Given the description of an element on the screen output the (x, y) to click on. 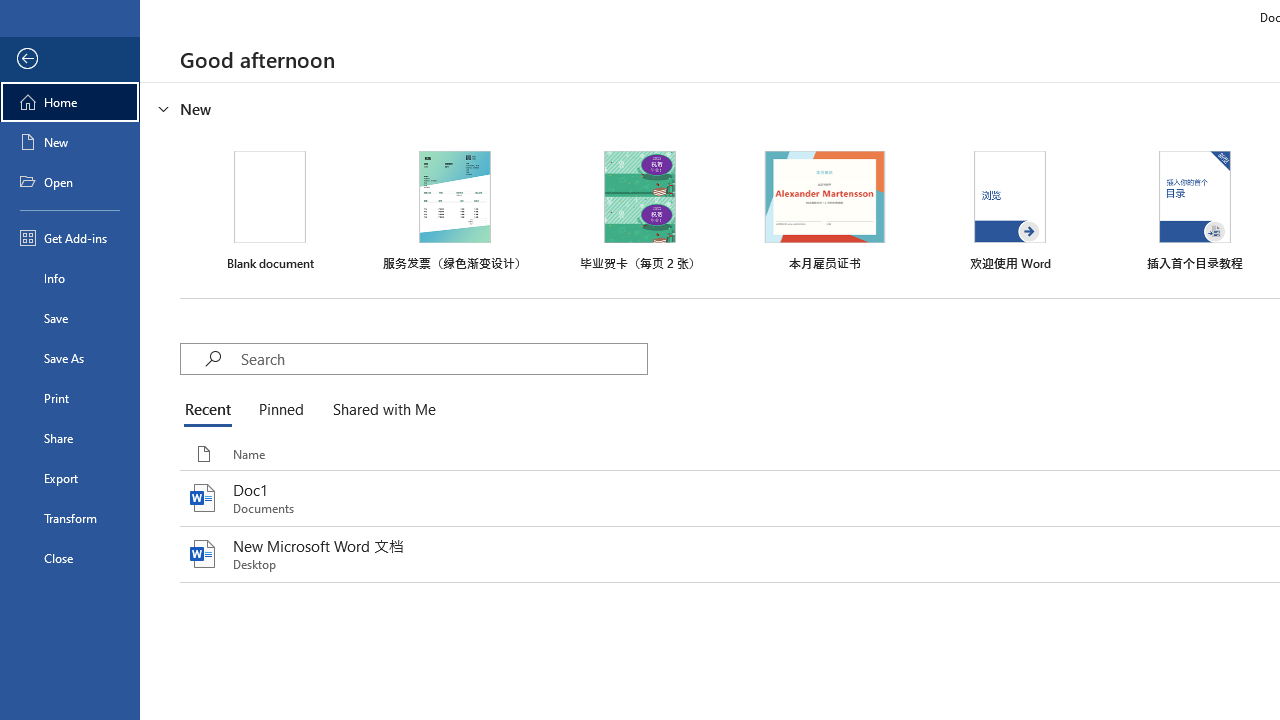
Save As (69, 357)
System (10, 11)
Back (69, 59)
Home (69, 101)
Print (69, 398)
Recent (212, 410)
Get Add-ins (69, 237)
Pinned (280, 410)
Close (69, 557)
Open (69, 182)
Shared with Me (379, 410)
